Given the description of an element on the screen output the (x, y) to click on. 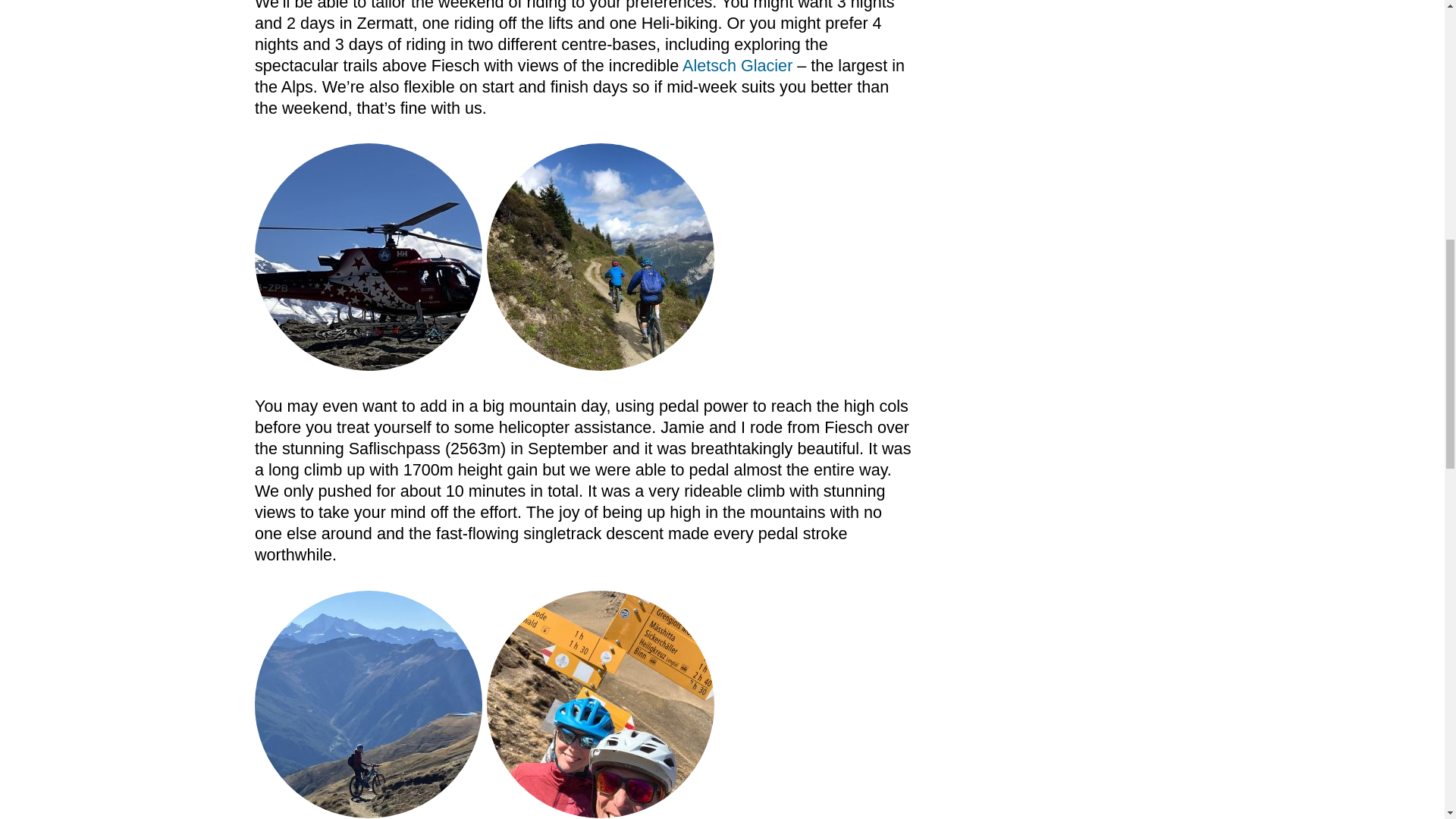
Aletsch Glacier (739, 65)
